Given the description of an element on the screen output the (x, y) to click on. 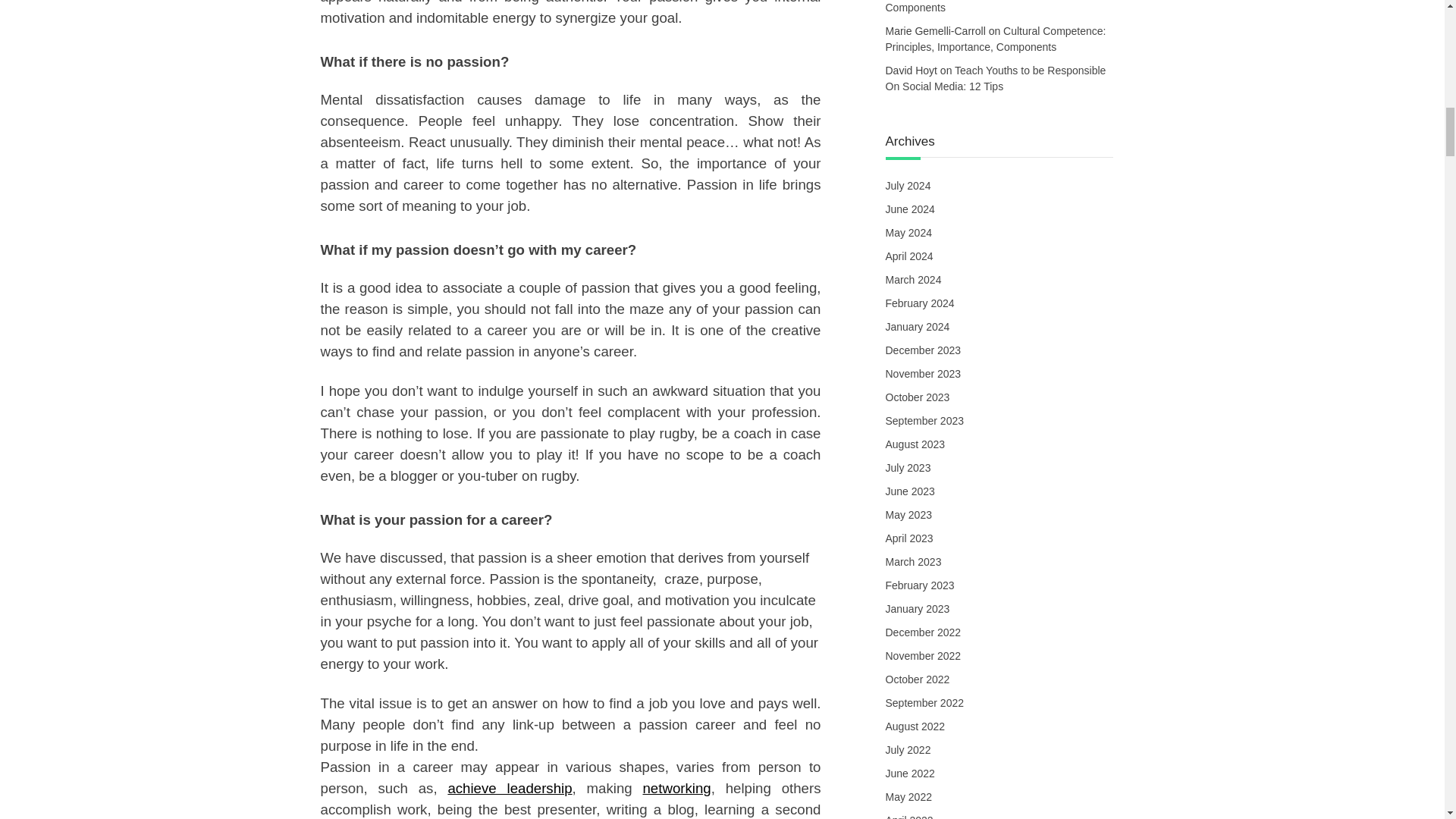
networking (676, 788)
achieve leadership (509, 788)
